Given the description of an element on the screen output the (x, y) to click on. 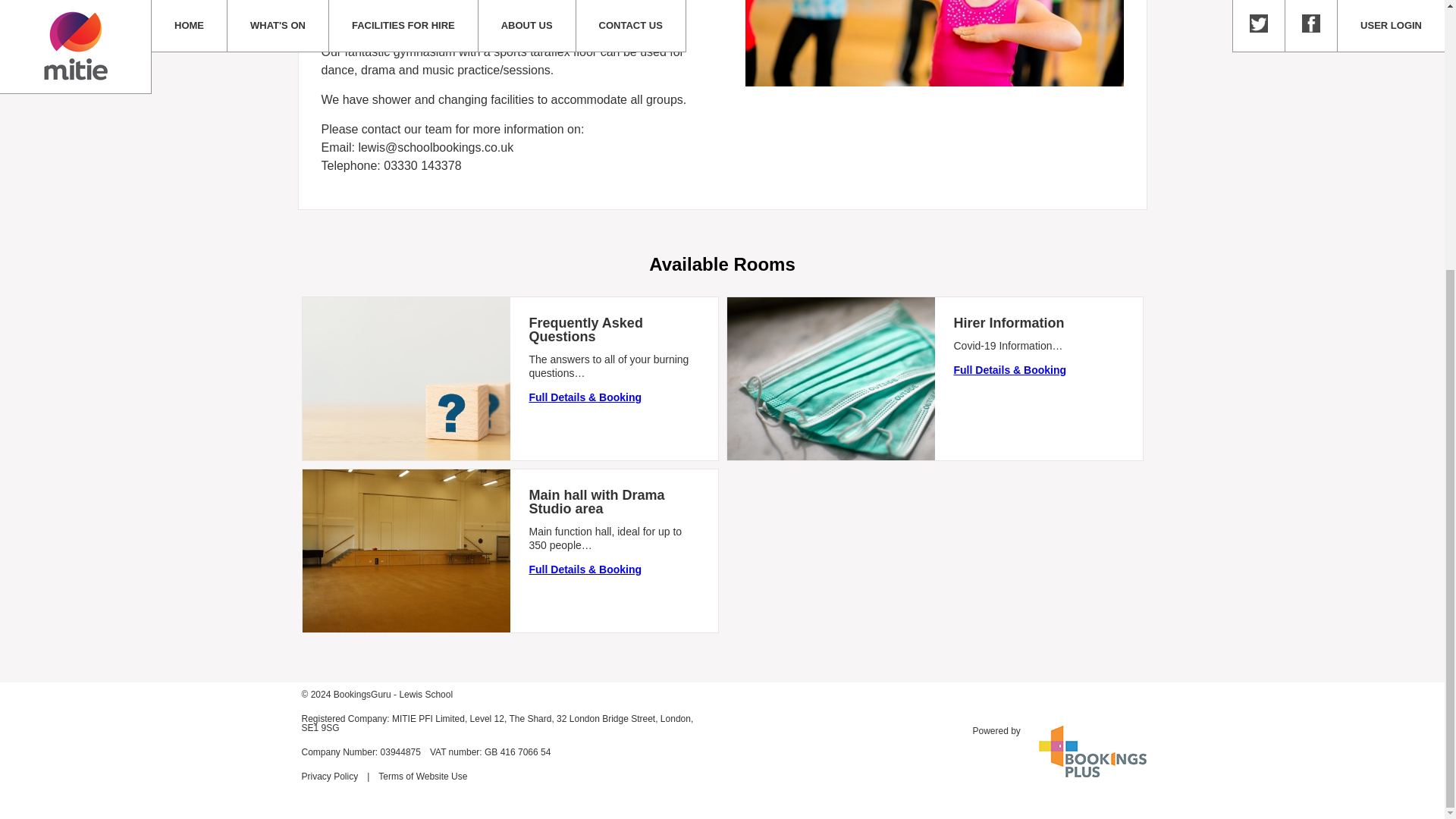
BookingsPlus (996, 729)
Privacy Policy (329, 776)
Terms of Website Use (422, 776)
Privacy Policy (329, 776)
Powered by (996, 729)
Terms and Conditions (422, 776)
